Given the description of an element on the screen output the (x, y) to click on. 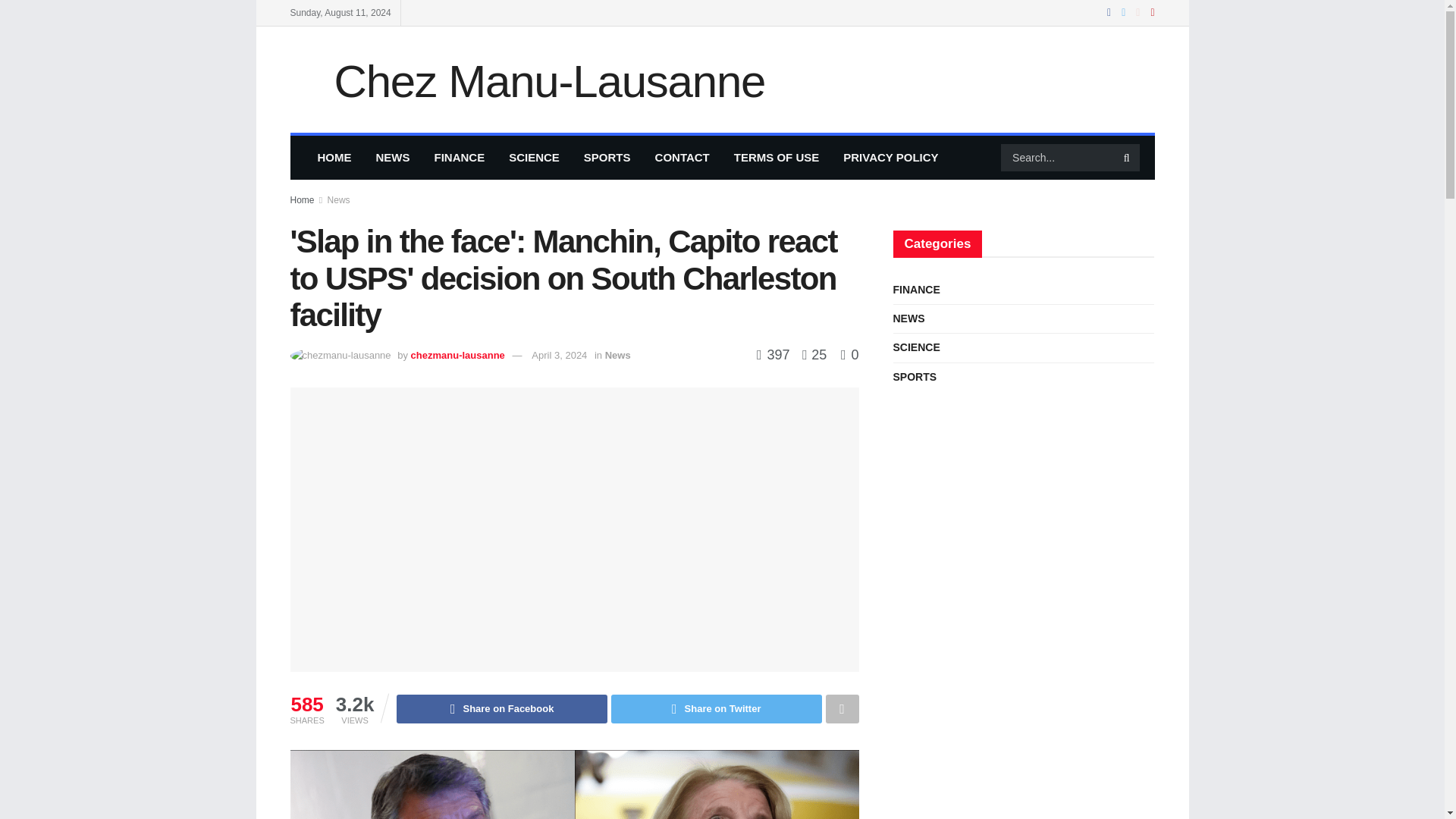
April 3, 2024 (558, 355)
SCIENCE (534, 157)
25 (810, 354)
News (617, 355)
TERMS OF USE (776, 157)
CONTACT (682, 157)
News (338, 199)
Share on Facebook (501, 708)
FINANCE (459, 157)
SPORTS (607, 157)
